Given the description of an element on the screen output the (x, y) to click on. 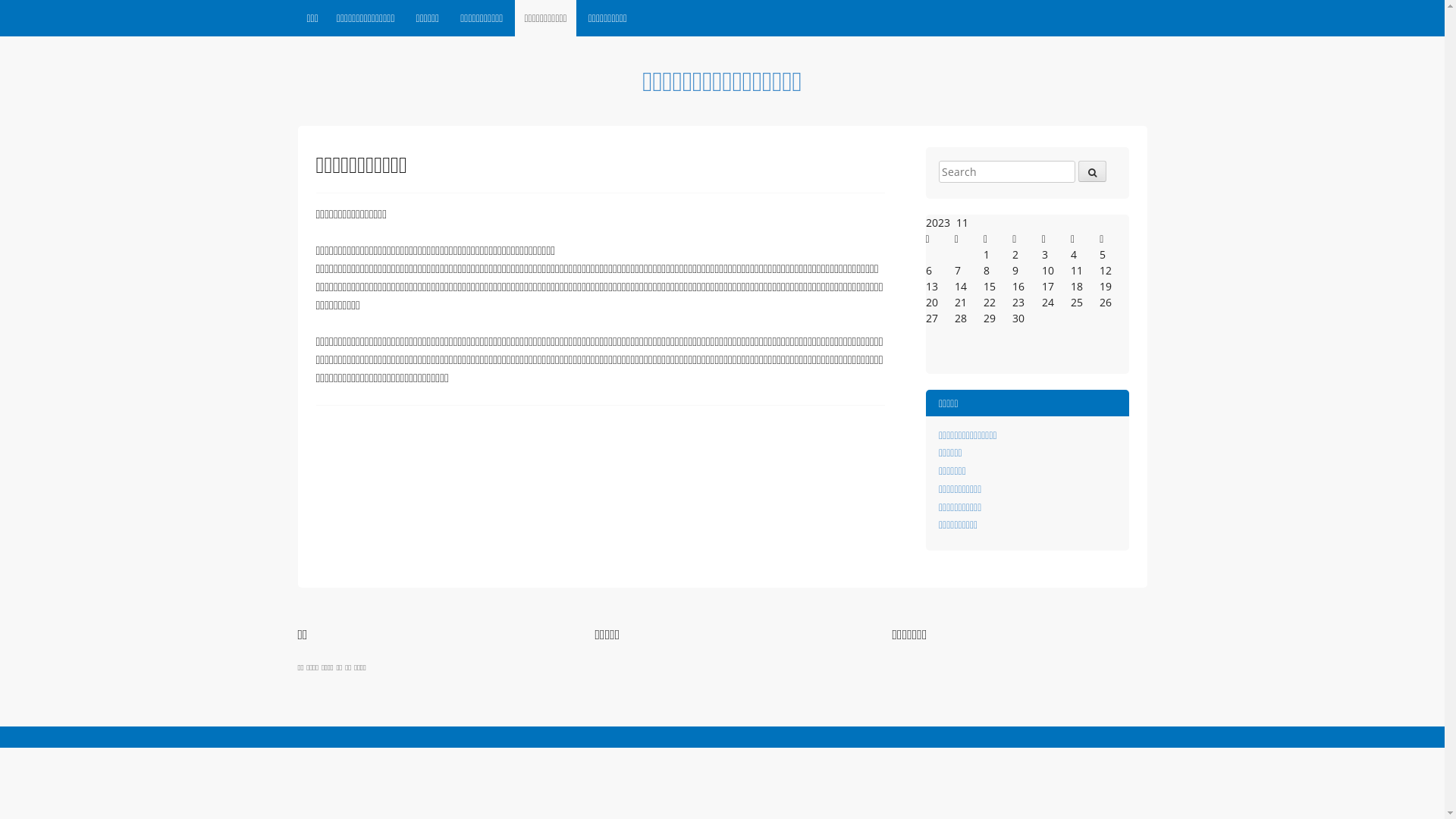
Search for: Element type: hover (1006, 171)
